Given the description of an element on the screen output the (x, y) to click on. 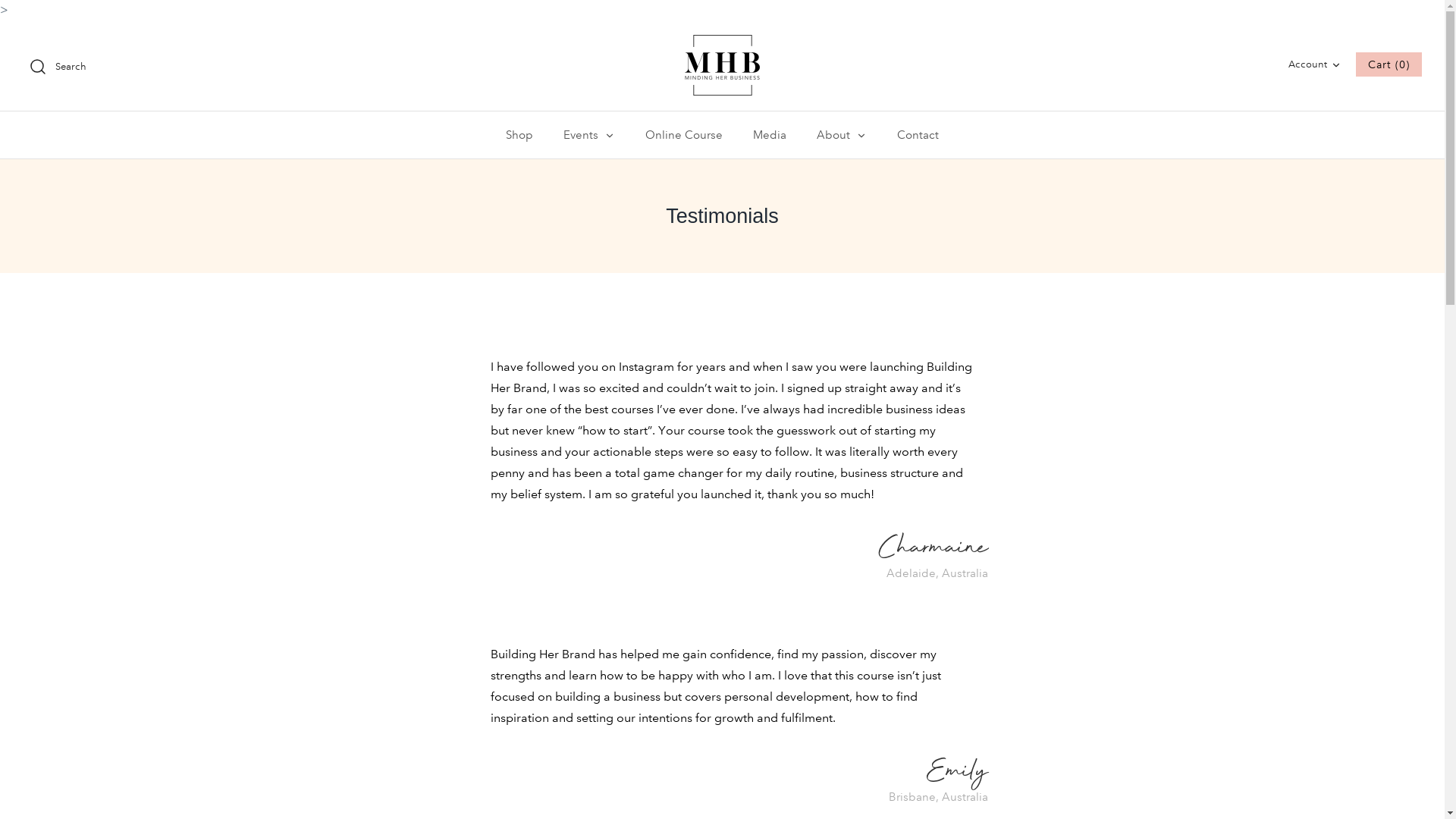
Emily Element type: text (957, 773)
About Toggle menu Element type: text (841, 135)
Online Course Element type: text (683, 135)
Events Toggle menu Element type: text (588, 135)
Minding Her Business Element type: hover (721, 64)
Charmaine Element type: text (932, 549)
Shop Element type: text (519, 135)
Media Element type: text (769, 135)
Cart (0) Element type: text (1388, 64)
Contact Element type: text (917, 135)
Account
Down Element type: text (1315, 64)
